Given the description of an element on the screen output the (x, y) to click on. 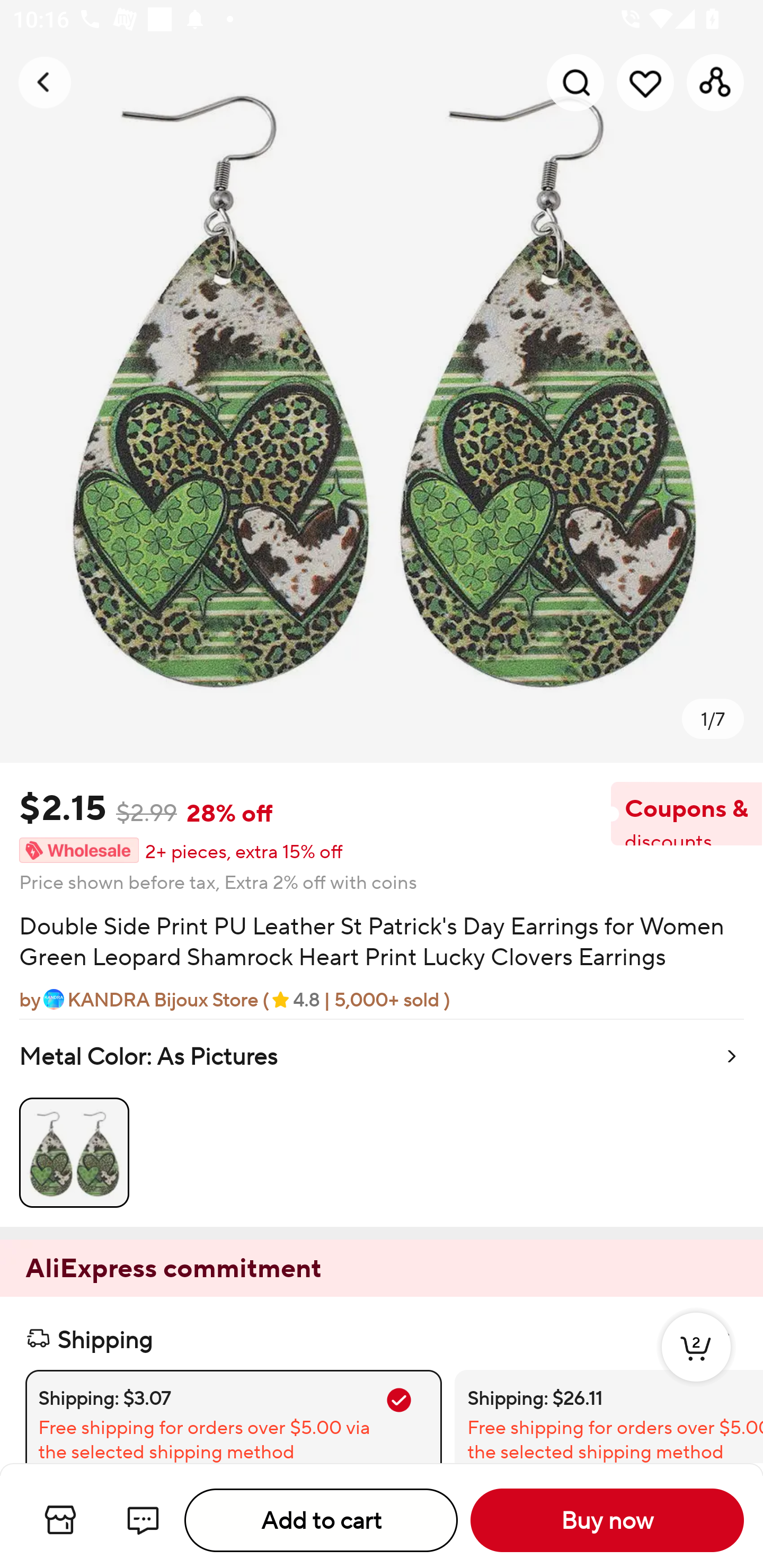
Navigate up (44, 82)
Metal Color: As Pictures  (381, 1122)
2 (695, 1366)
Add to cart (320, 1520)
Buy now (606, 1520)
